Given the description of an element on the screen output the (x, y) to click on. 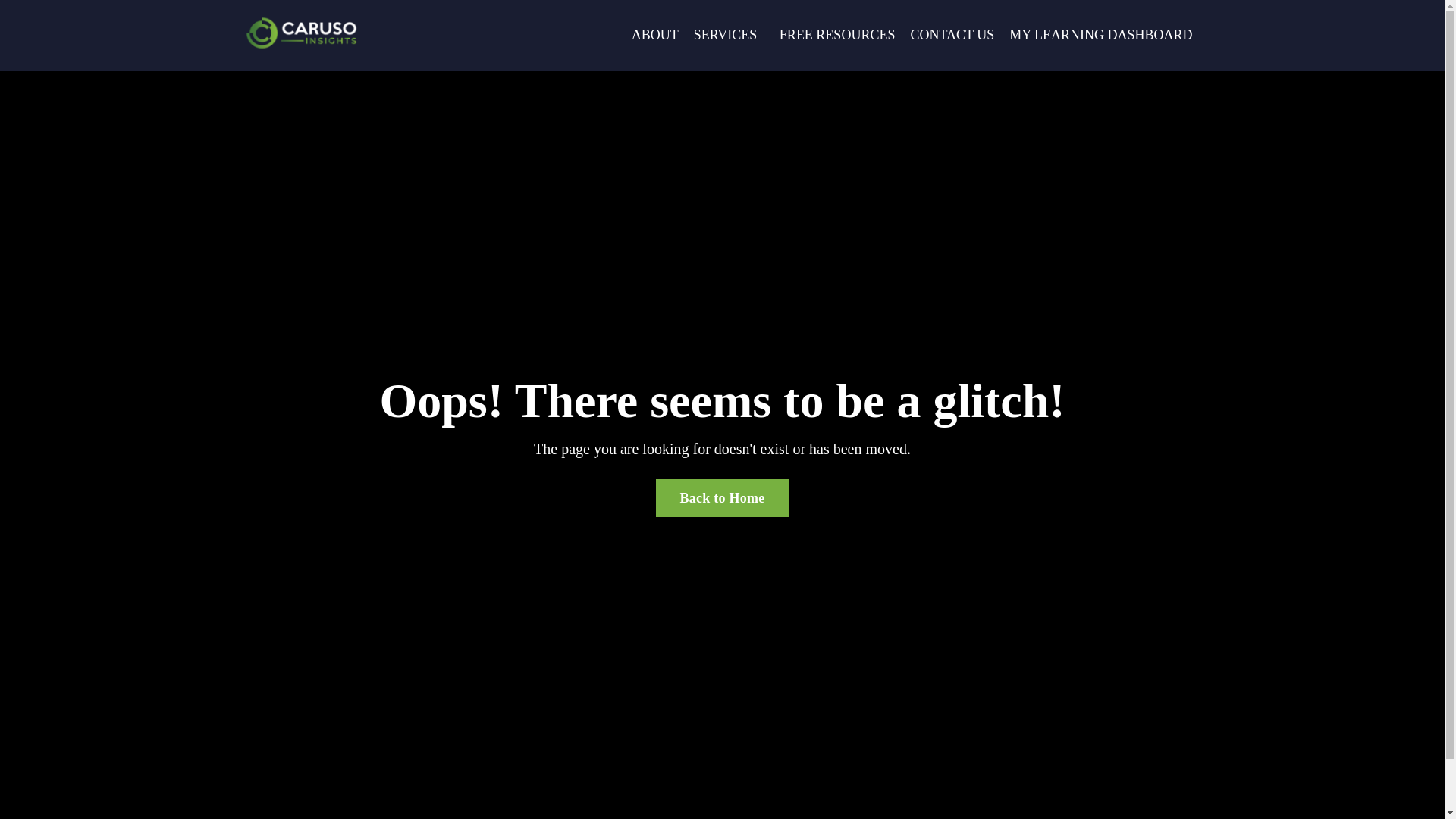
FREE RESOURCES (836, 34)
SERVICES (729, 34)
CONTACT US (952, 34)
MY LEARNING DASHBOARD (1100, 34)
Back to Home (722, 497)
ABOUT (654, 34)
